Given the description of an element on the screen output the (x, y) to click on. 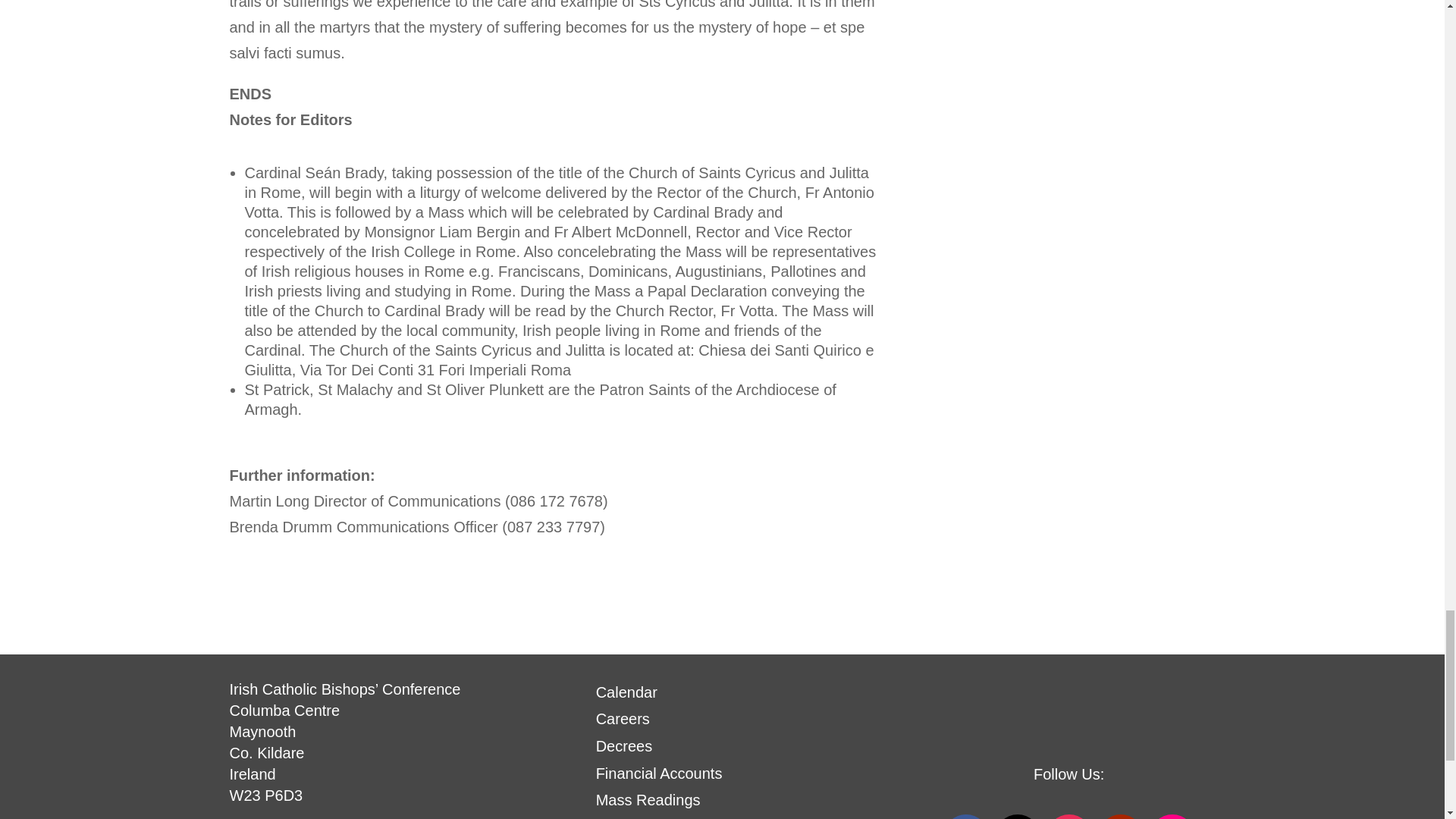
Follow on Facebook (965, 816)
Follow on Instagram (1069, 816)
Follow on X (1017, 816)
Follow on Youtube (1119, 816)
Follow on Flickr (1172, 816)
